Given the description of an element on the screen output the (x, y) to click on. 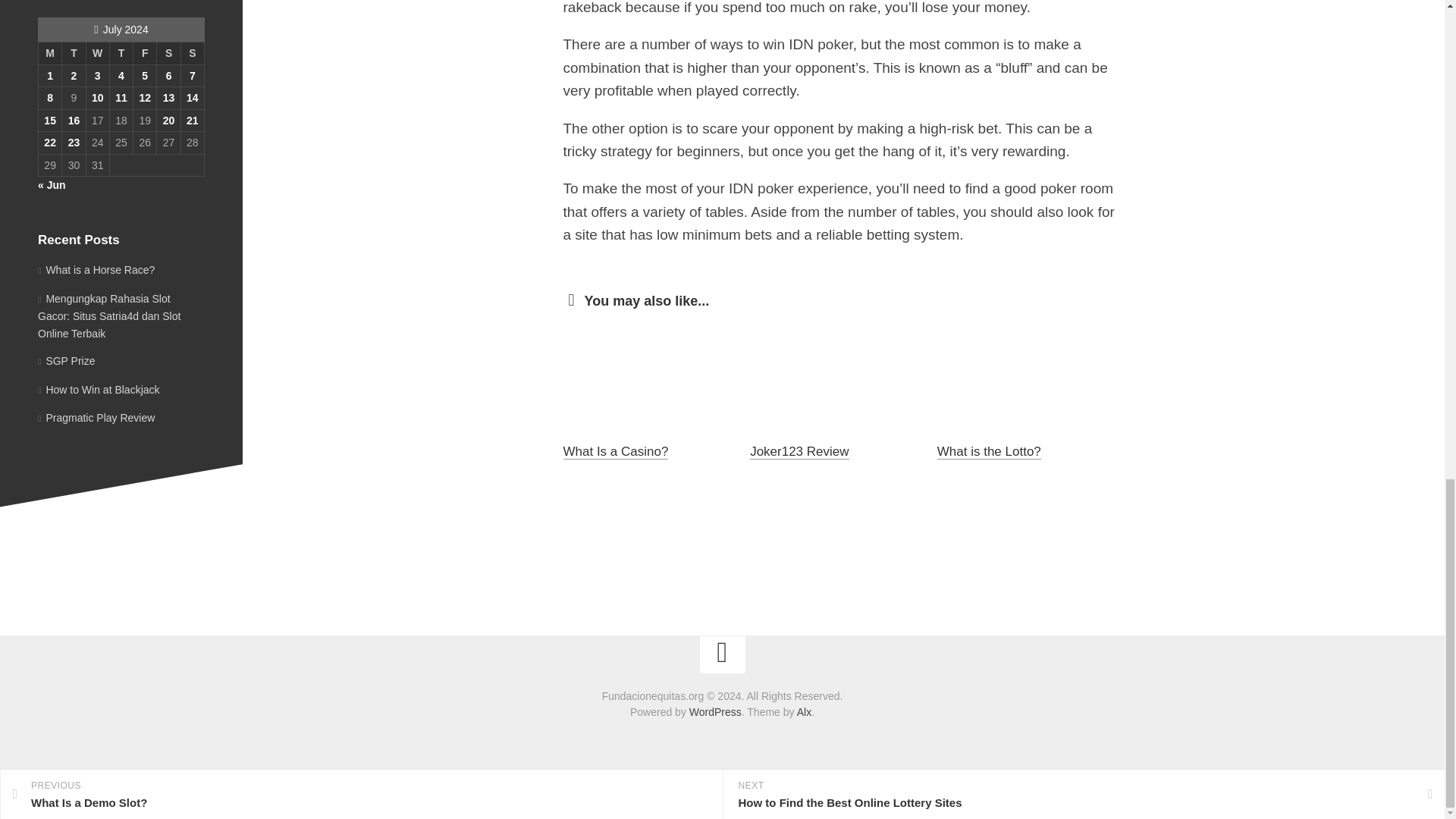
Thursday (120, 53)
Joker123 Review (798, 451)
Tuesday (73, 53)
Wednesday (97, 53)
What Is a Casino? (615, 451)
What is the Lotto? (989, 451)
Friday (145, 53)
Sunday (191, 53)
Monday (49, 53)
Saturday (168, 53)
